Given the description of an element on the screen output the (x, y) to click on. 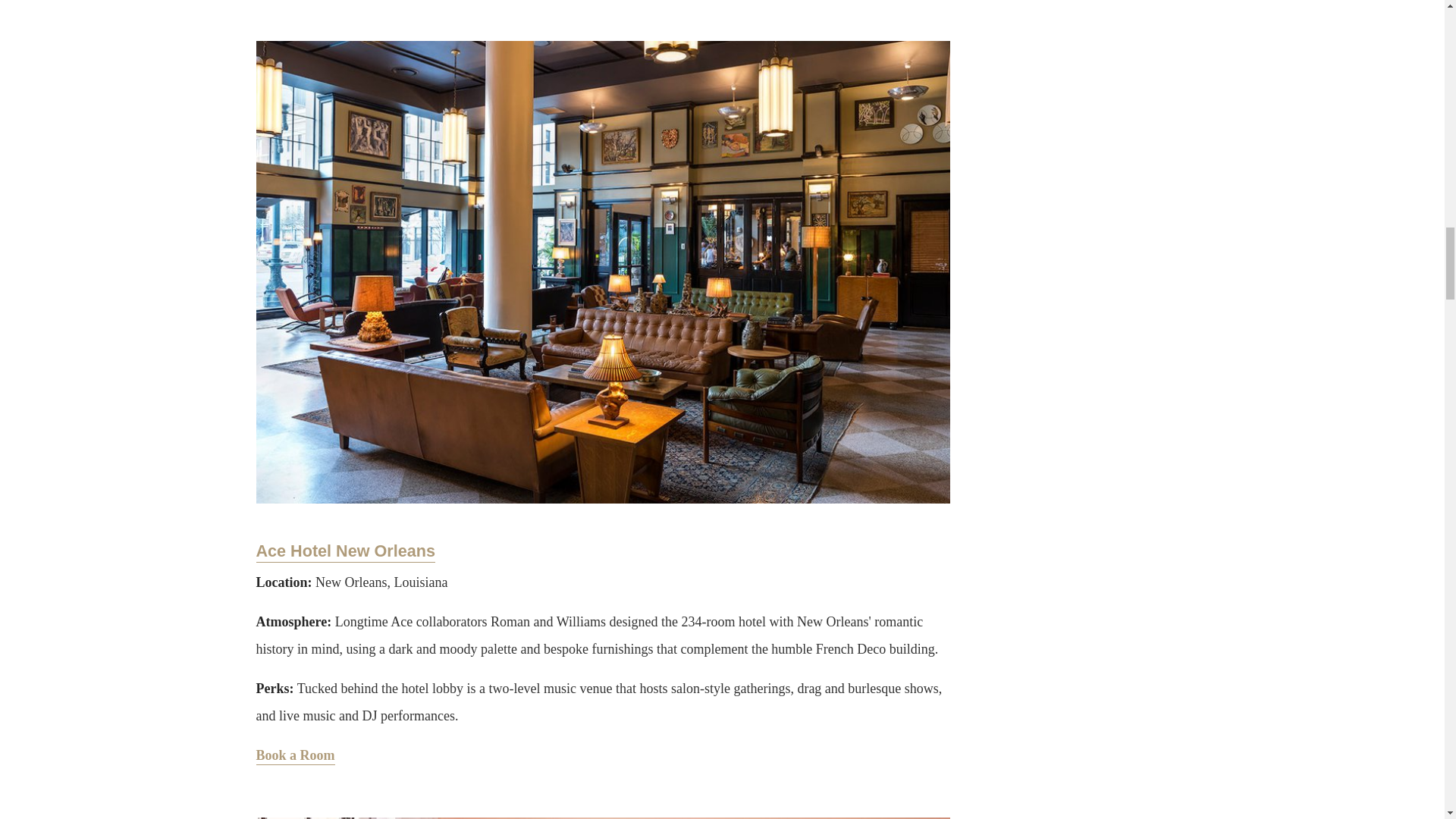
Book a Room (295, 755)
Book Ace Hotel New Orleans (295, 755)
Ace Hotel New Orleans (345, 551)
Ace Hotel New Orleans (345, 551)
